Given the description of an element on the screen output the (x, y) to click on. 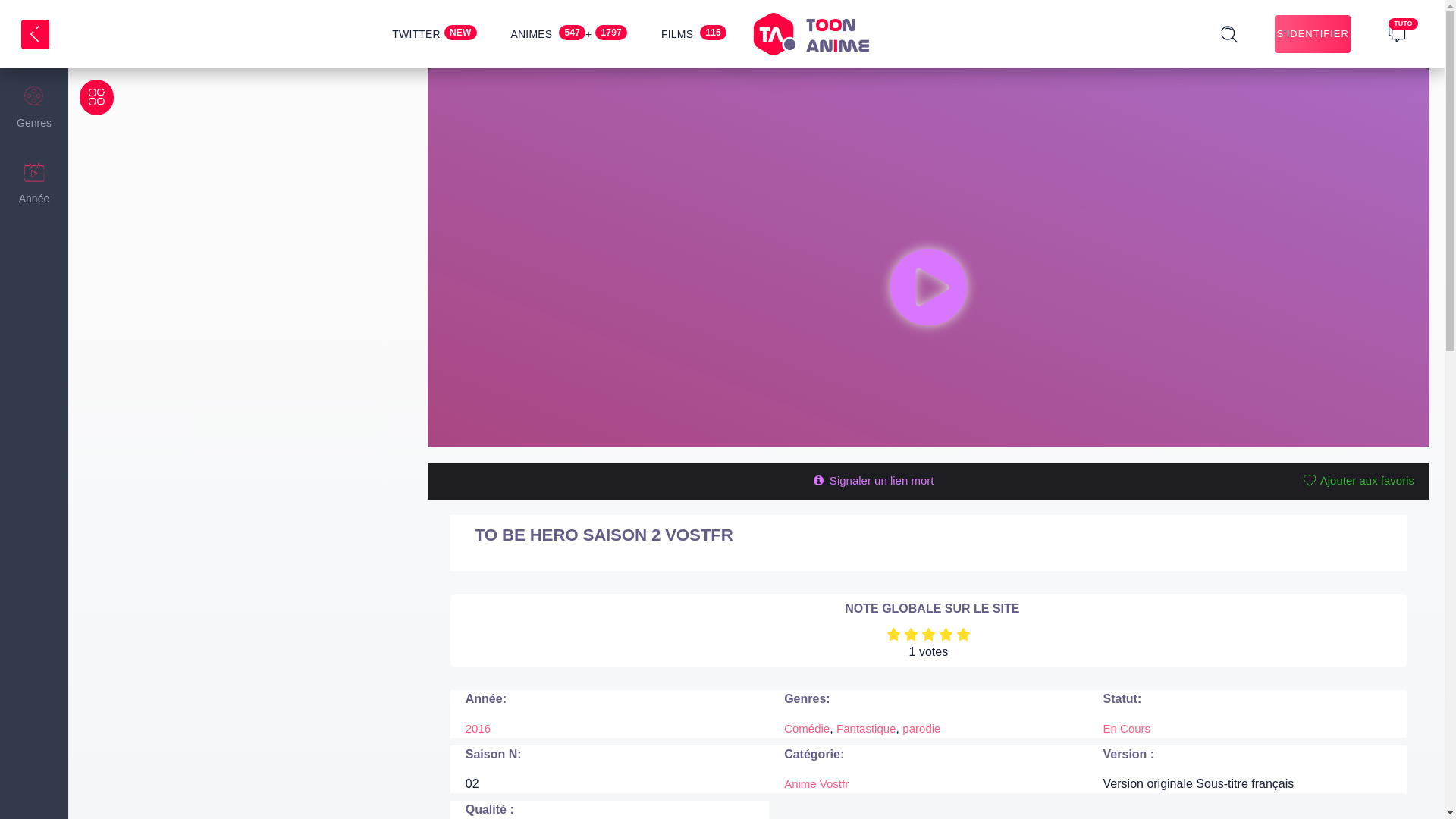
3 Element type: text (928, 634)
TWITTERNEW Element type: text (434, 34)
parodie Element type: text (921, 727)
Signaler un lien mort Element type: text (872, 479)
2016 Element type: text (477, 727)
RECHERCHE Element type: text (1389, 46)
En Cours Element type: text (1127, 727)
ANIMES 547+1797 Element type: text (569, 34)
S'IDENTIFIER Element type: text (1312, 34)
1 Element type: text (893, 634)
4 Element type: text (945, 634)
Anime Vostfr Element type: text (816, 783)
5 Element type: text (963, 634)
Fantastique Element type: text (865, 727)
2 Element type: text (910, 634)
FILMS 115 Element type: text (693, 34)
TUTO Element type: text (1396, 33)
Genres Element type: text (33, 106)
